Given the description of an element on the screen output the (x, y) to click on. 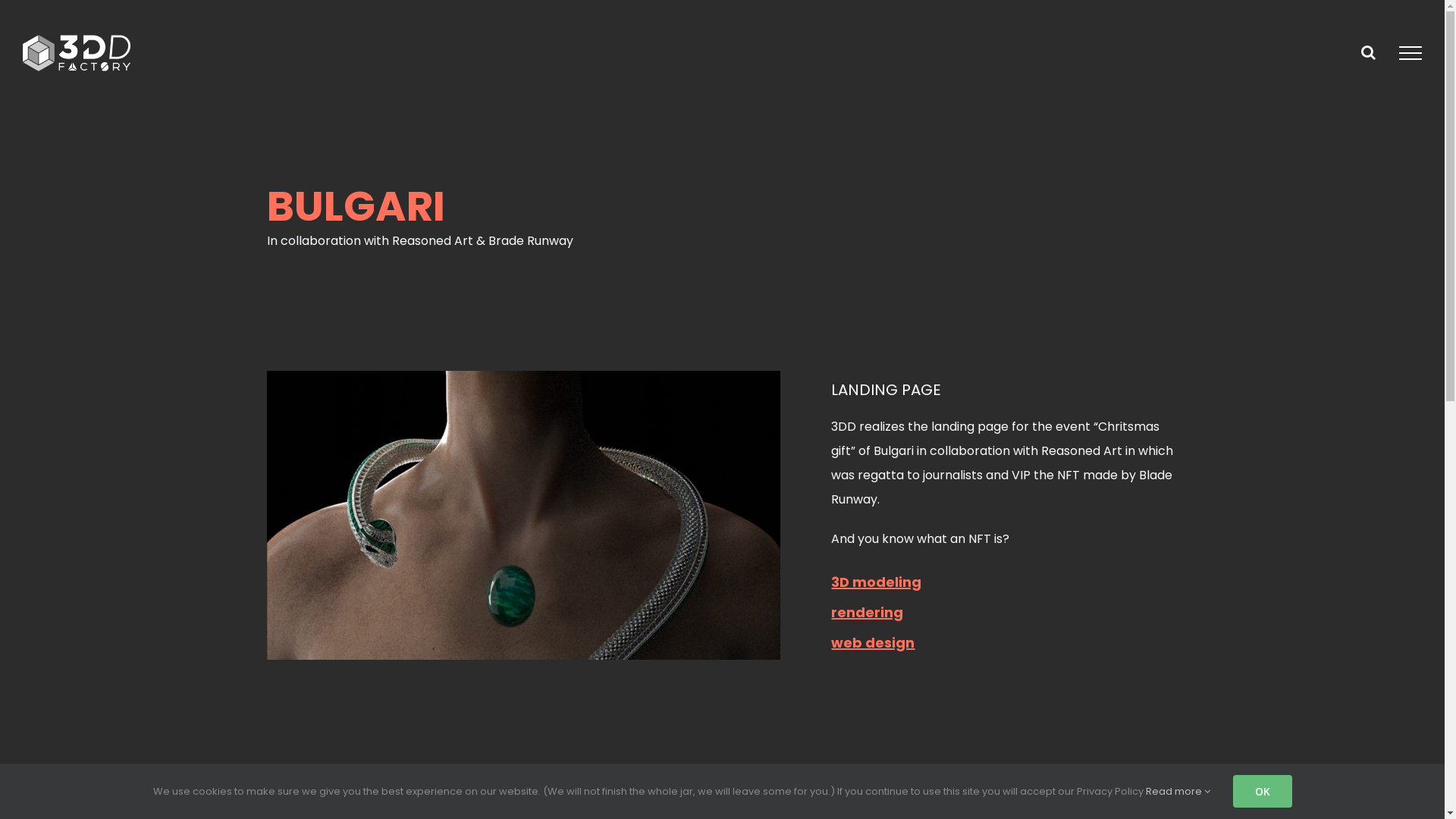
Read more Element type: text (1177, 791)
OK Element type: text (1262, 791)
Bulgari Element type: hover (523, 514)
